Given the description of an element on the screen output the (x, y) to click on. 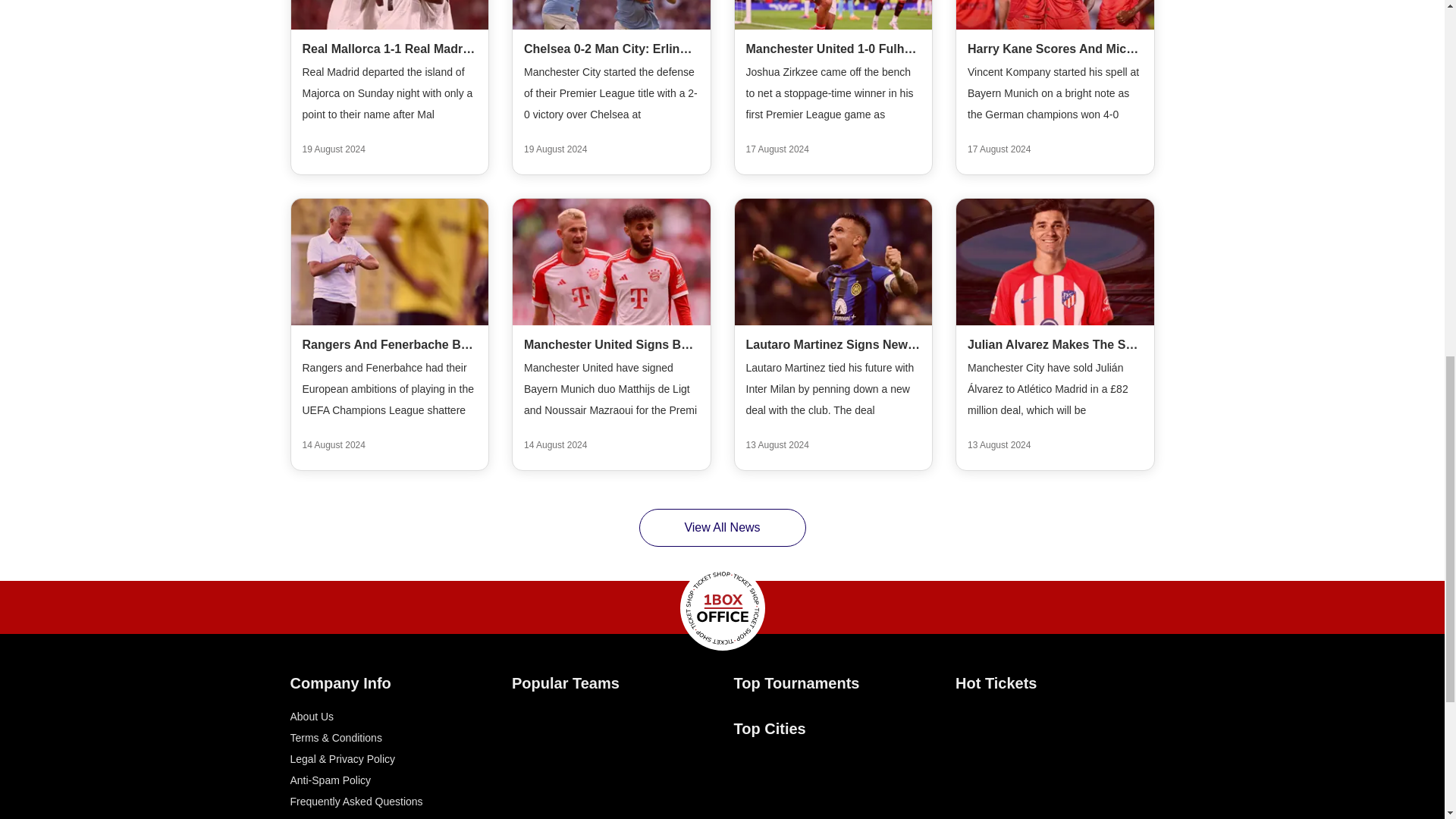
19 August 2024 (555, 149)
19 August 2024 (333, 149)
17 August 2024 (777, 149)
